Given the description of an element on the screen output the (x, y) to click on. 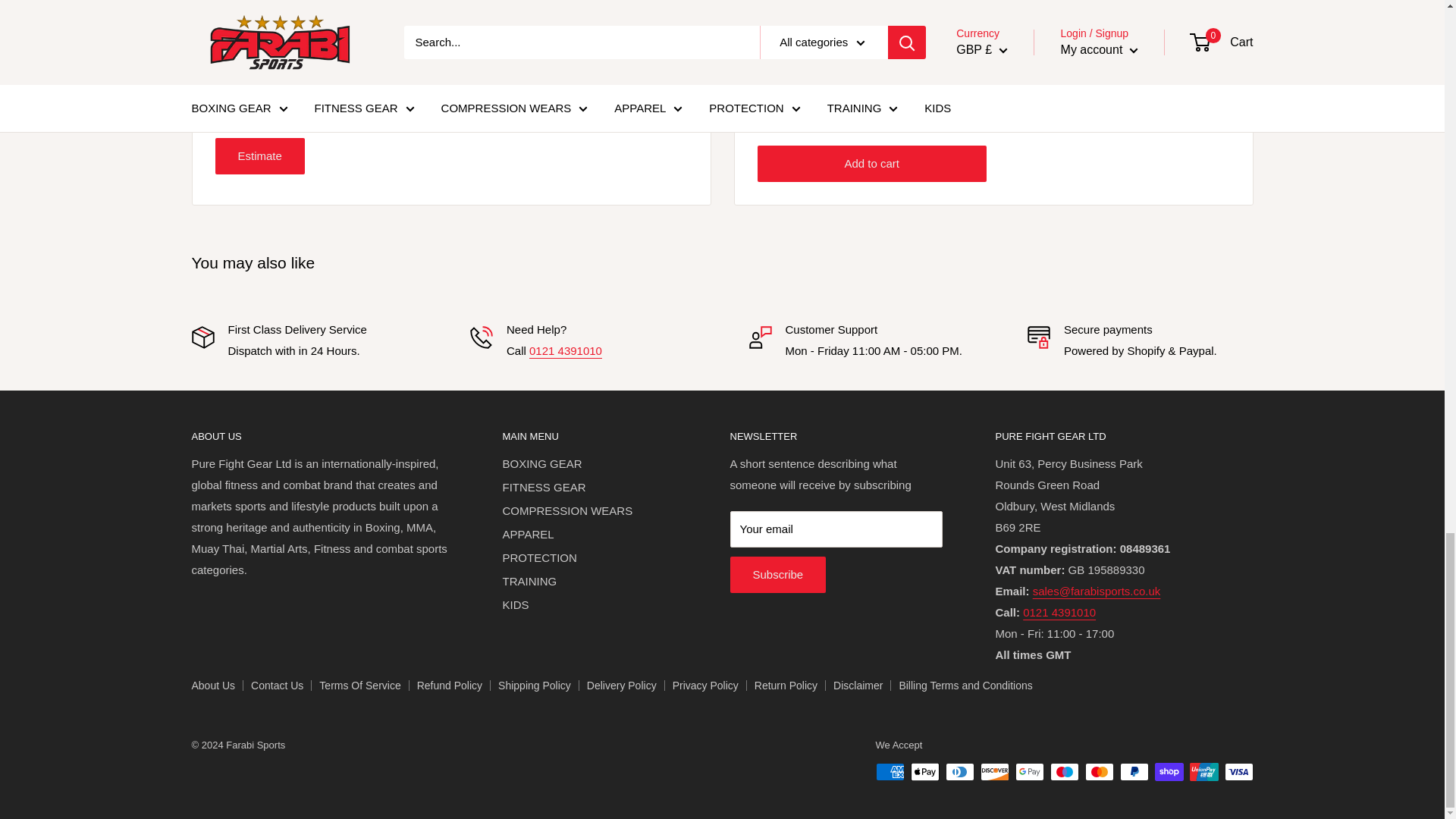
tel:0121 4391010 (1059, 612)
tel:0121 4391010 (565, 350)
